Given the description of an element on the screen output the (x, y) to click on. 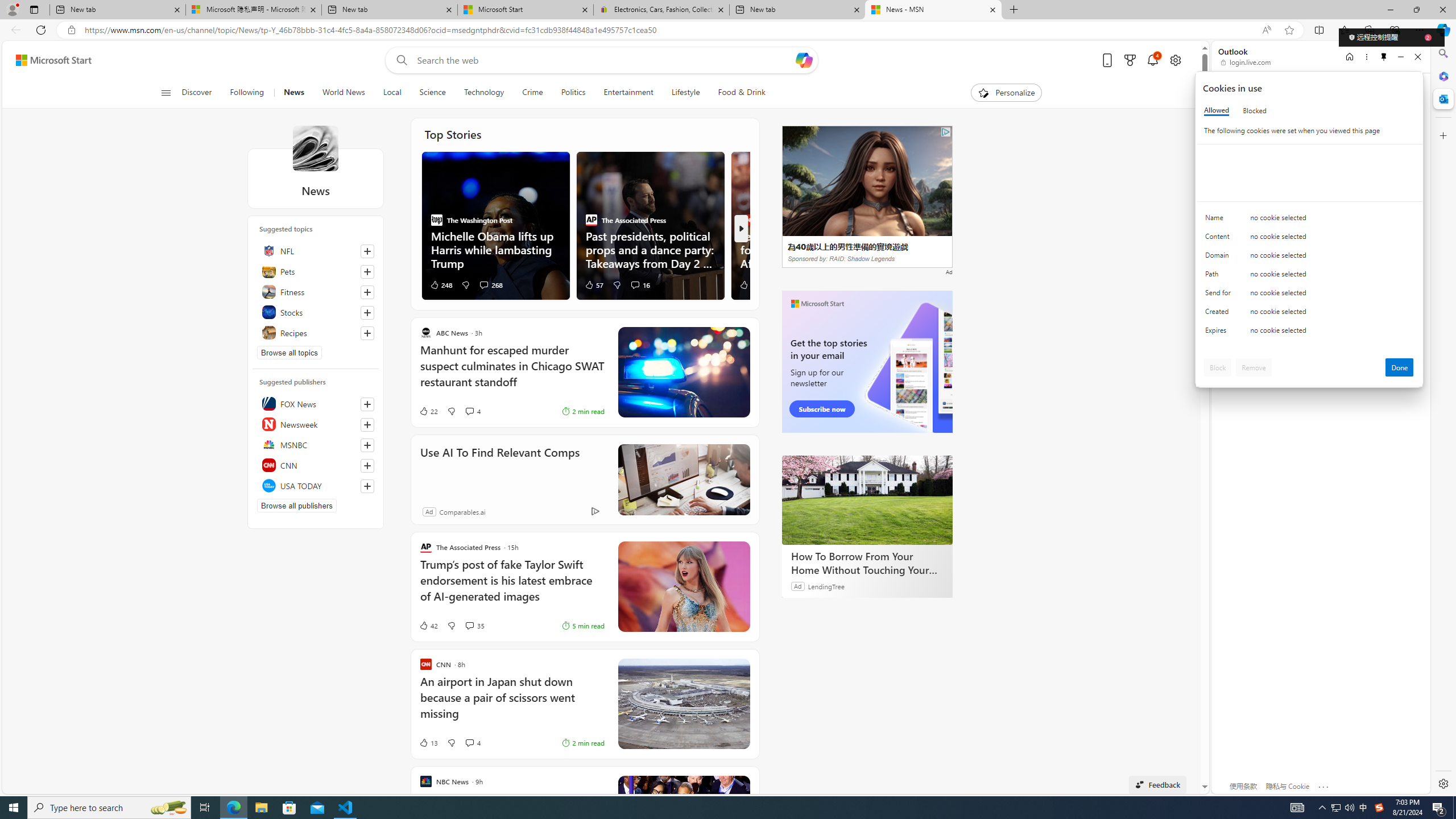
View comments 4 Comment (472, 742)
Domain (1219, 257)
Content (1219, 239)
View comments 268 Comment (484, 284)
